Given the description of an element on the screen output the (x, y) to click on. 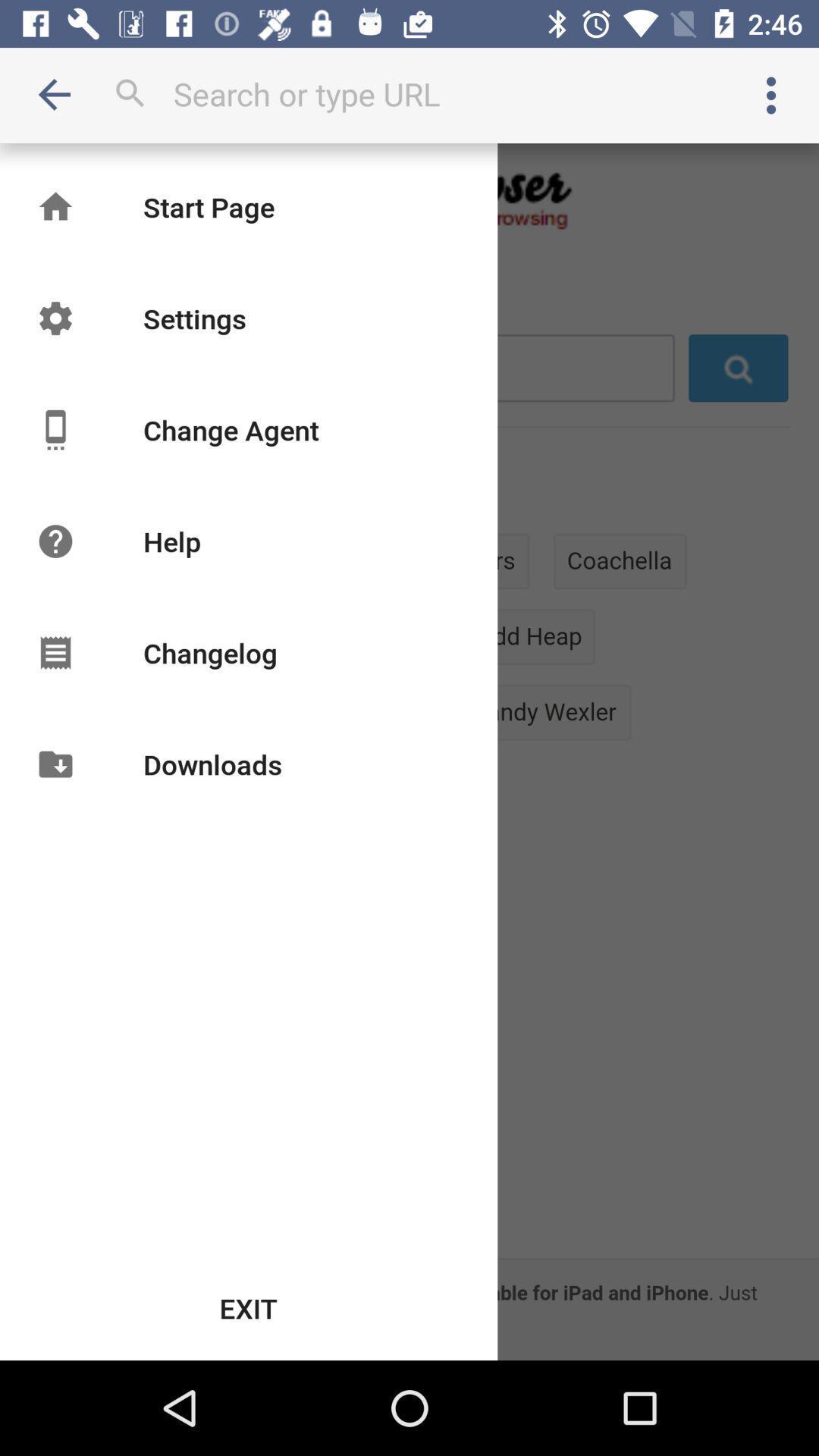
flip to change agent (231, 429)
